Given the description of an element on the screen output the (x, y) to click on. 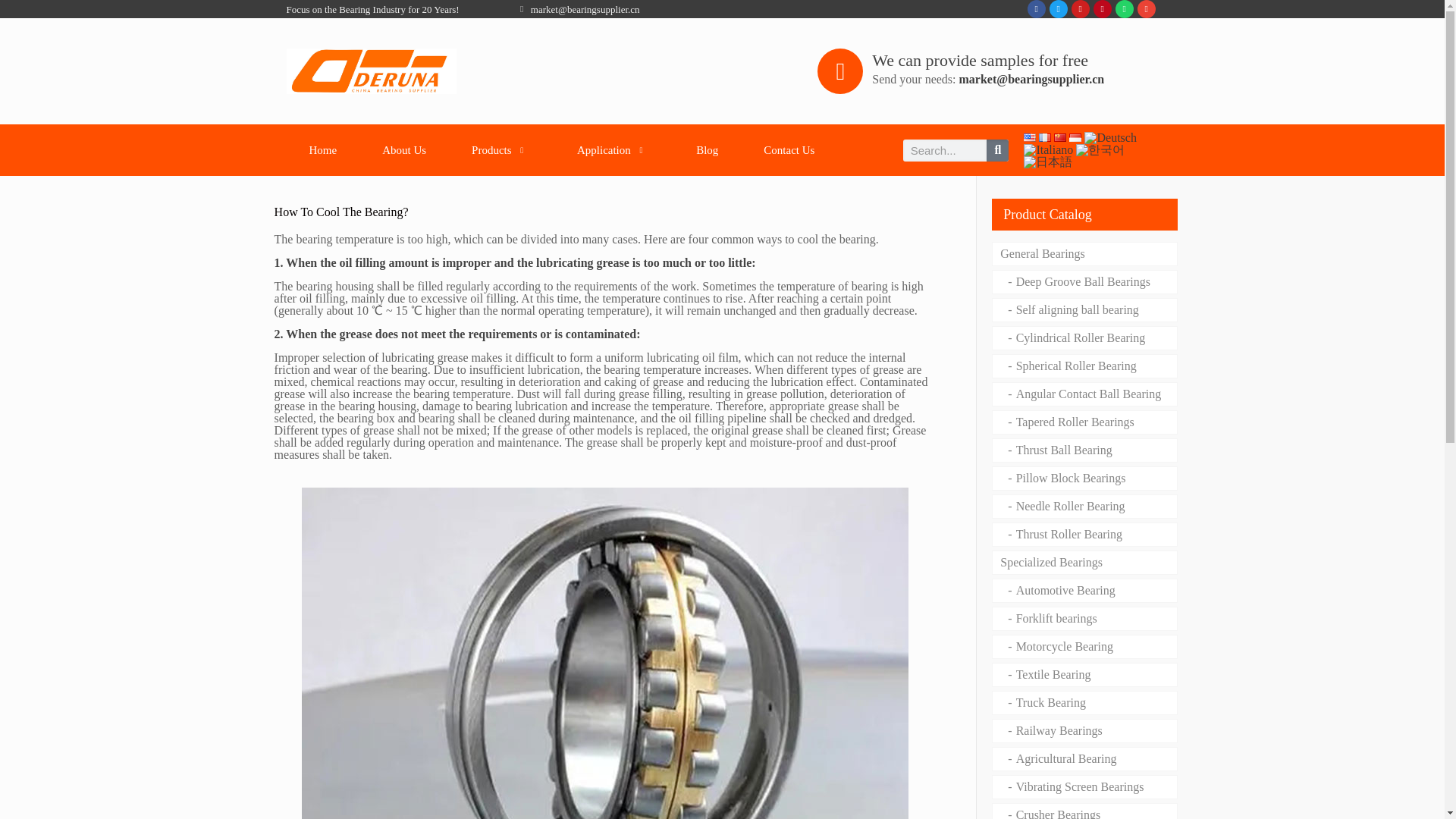
Italiano (1048, 150)
Bahasa Indonesia (1074, 137)
English (1029, 137)
Home (322, 150)
Deutsch (1109, 137)
Products (501, 150)
About Us (403, 150)
